Given the description of an element on the screen output the (x, y) to click on. 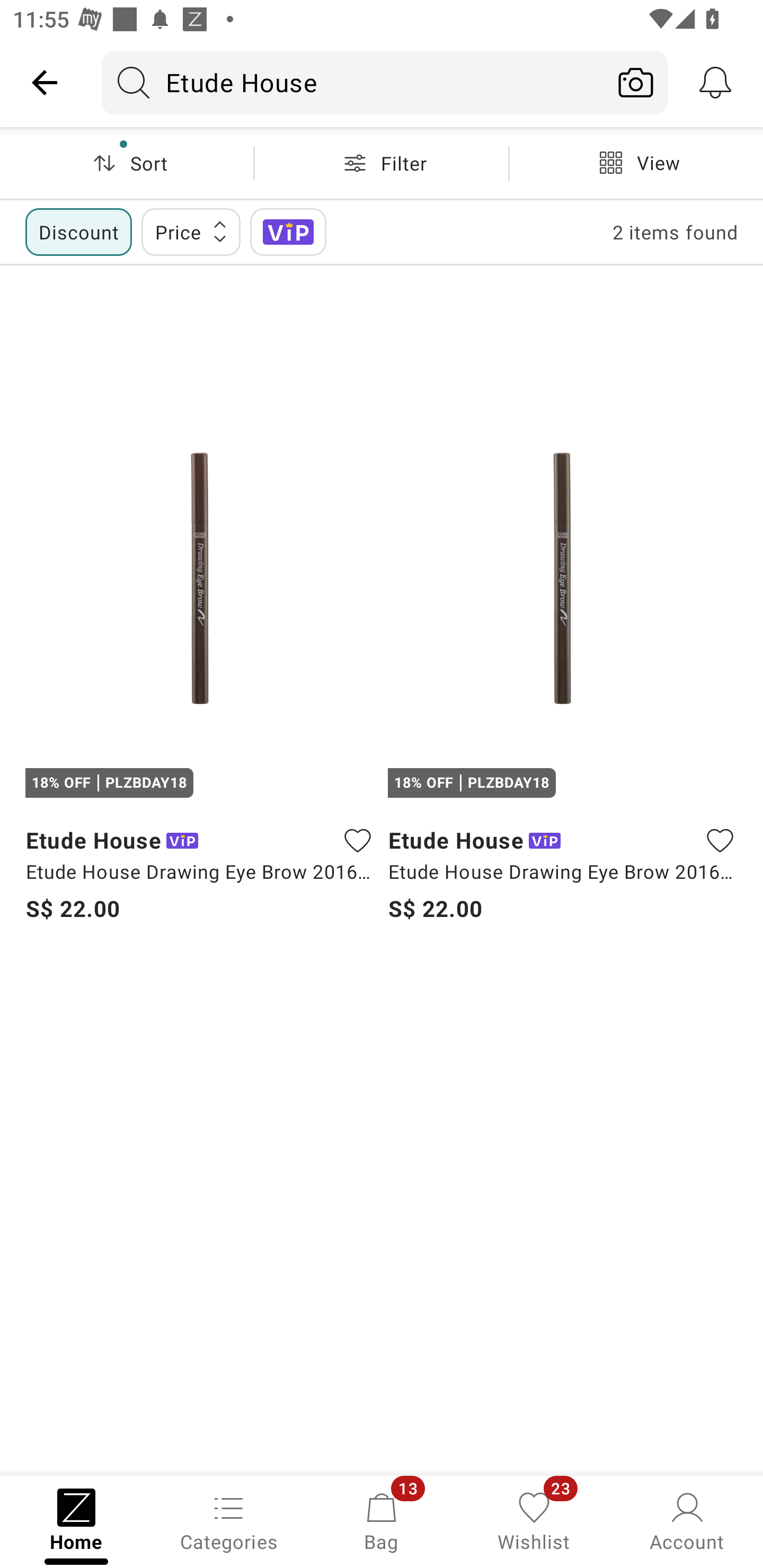
Navigate up (44, 82)
Etude House (352, 82)
Sort (126, 163)
Filter (381, 163)
View (636, 163)
Discount (78, 231)
Price (190, 231)
Categories (228, 1519)
Bag, 13 new notifications Bag (381, 1519)
Wishlist, 23 new notifications Wishlist (533, 1519)
Account (686, 1519)
